Given the description of an element on the screen output the (x, y) to click on. 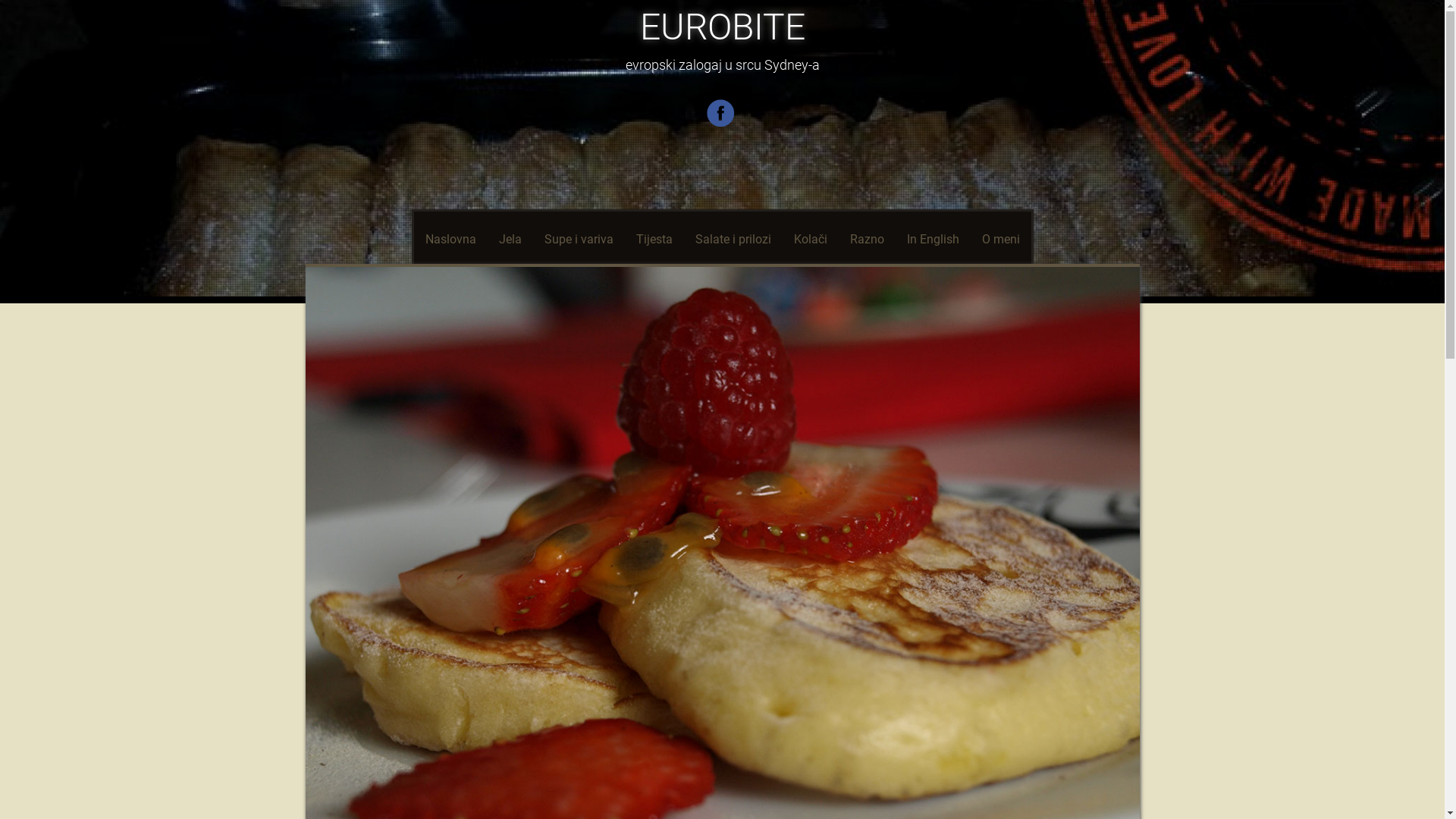
Tijesta Element type: text (654, 239)
EUROBITE Element type: text (722, 26)
Jela Element type: text (509, 239)
Naslovna Element type: text (450, 239)
In English Element type: text (931, 239)
Razno Element type: text (866, 239)
Supe i variva Element type: text (578, 239)
Salate i prilozi Element type: text (733, 239)
Facebook Element type: hover (722, 123)
O meni Element type: text (1000, 239)
Skip to content Element type: text (465, 239)
